Given the description of an element on the screen output the (x, y) to click on. 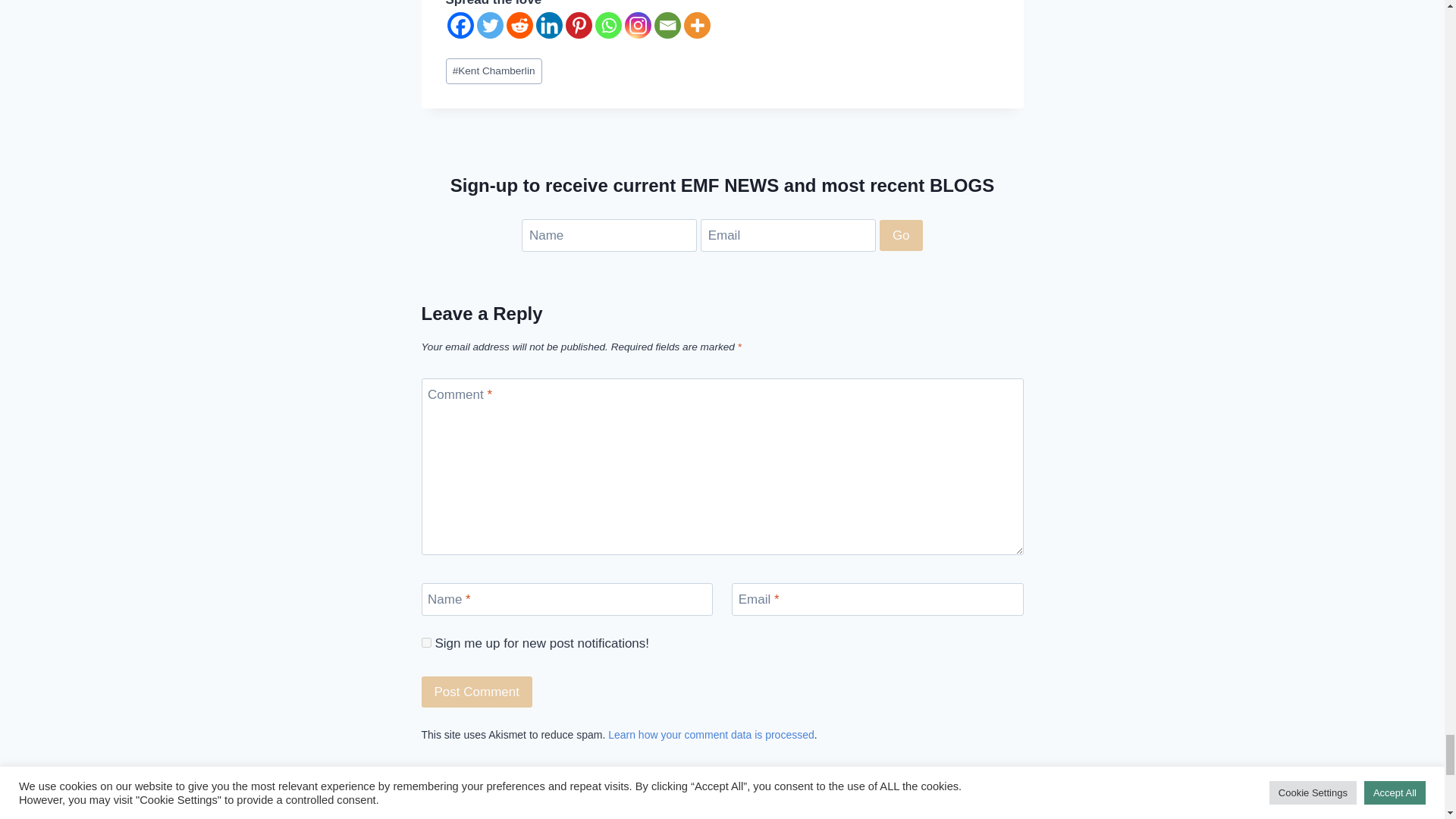
Linkedin (548, 25)
Go (901, 235)
1 (426, 642)
Whatsapp (607, 25)
Twitter (489, 25)
Email (666, 25)
Pinterest (579, 25)
Facebook (460, 25)
More (697, 25)
Reddit (519, 25)
Post Comment (477, 691)
Kent Chamberlin (493, 71)
Instagram (637, 25)
